Given the description of an element on the screen output the (x, y) to click on. 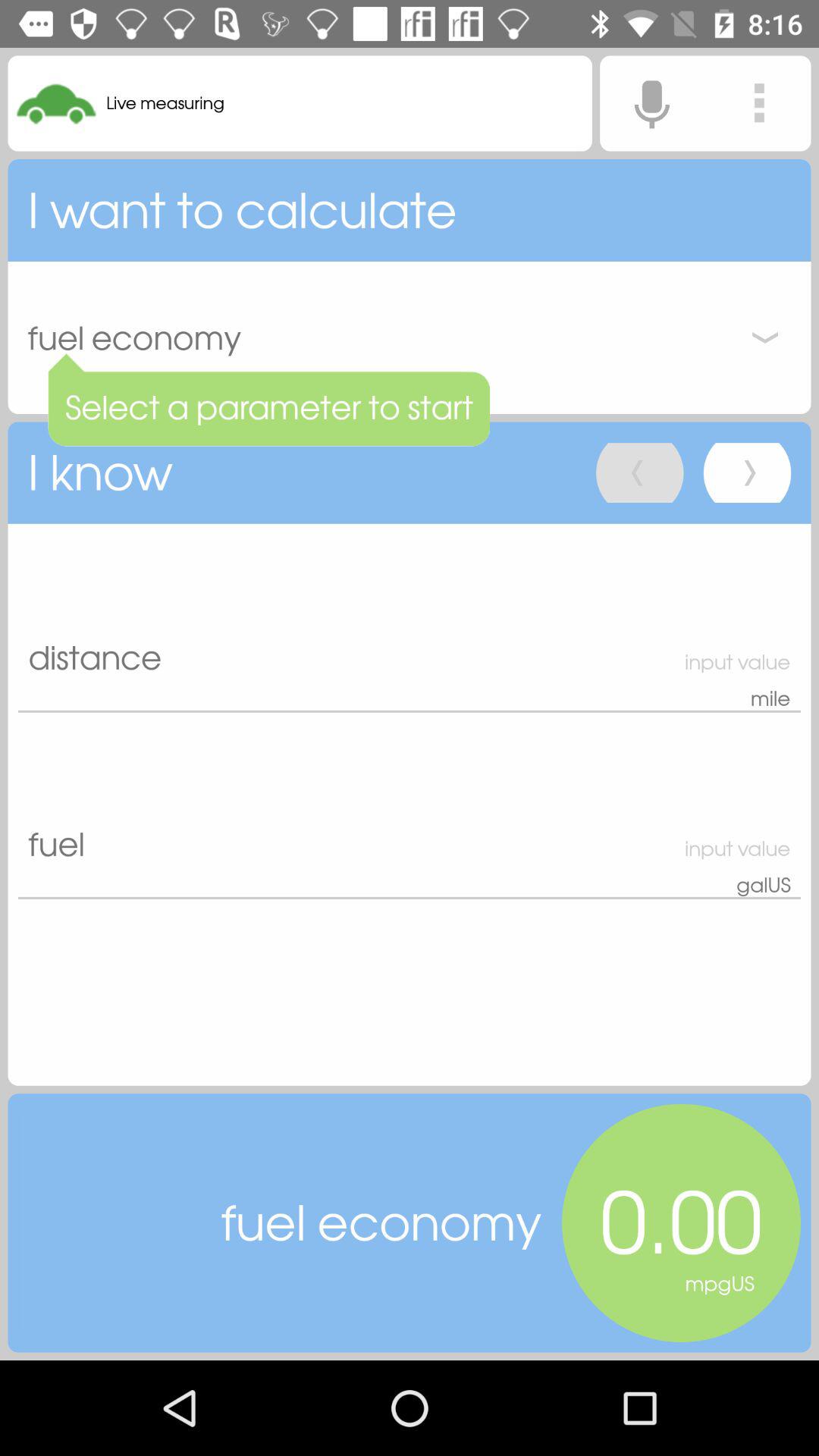
enable microphone (651, 103)
